Given the description of an element on the screen output the (x, y) to click on. 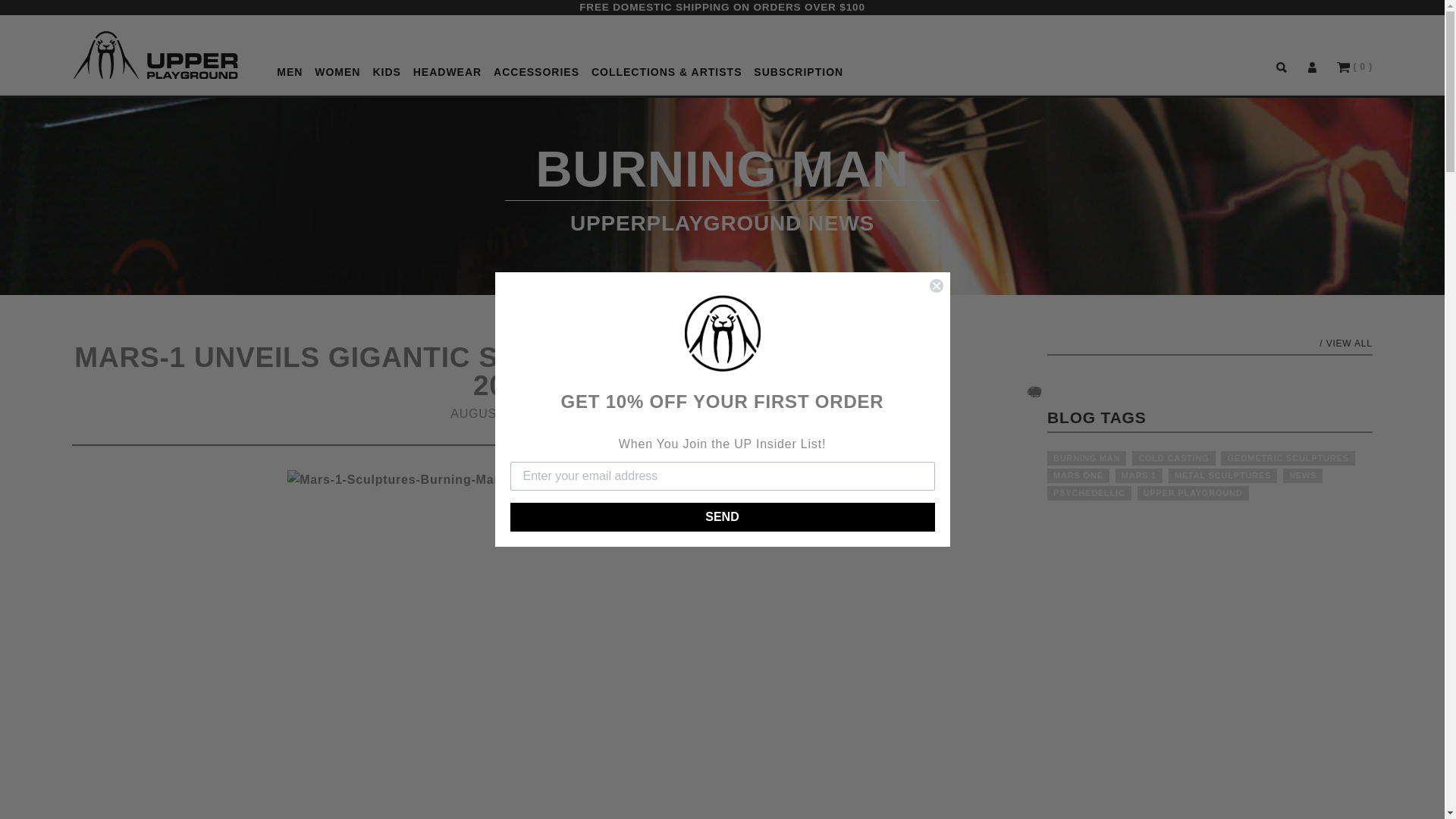
Close dialog 1 (935, 285)
UP-Logo-2018 (154, 55)
UP-Logo-2018 (154, 55)
